Given the description of an element on the screen output the (x, y) to click on. 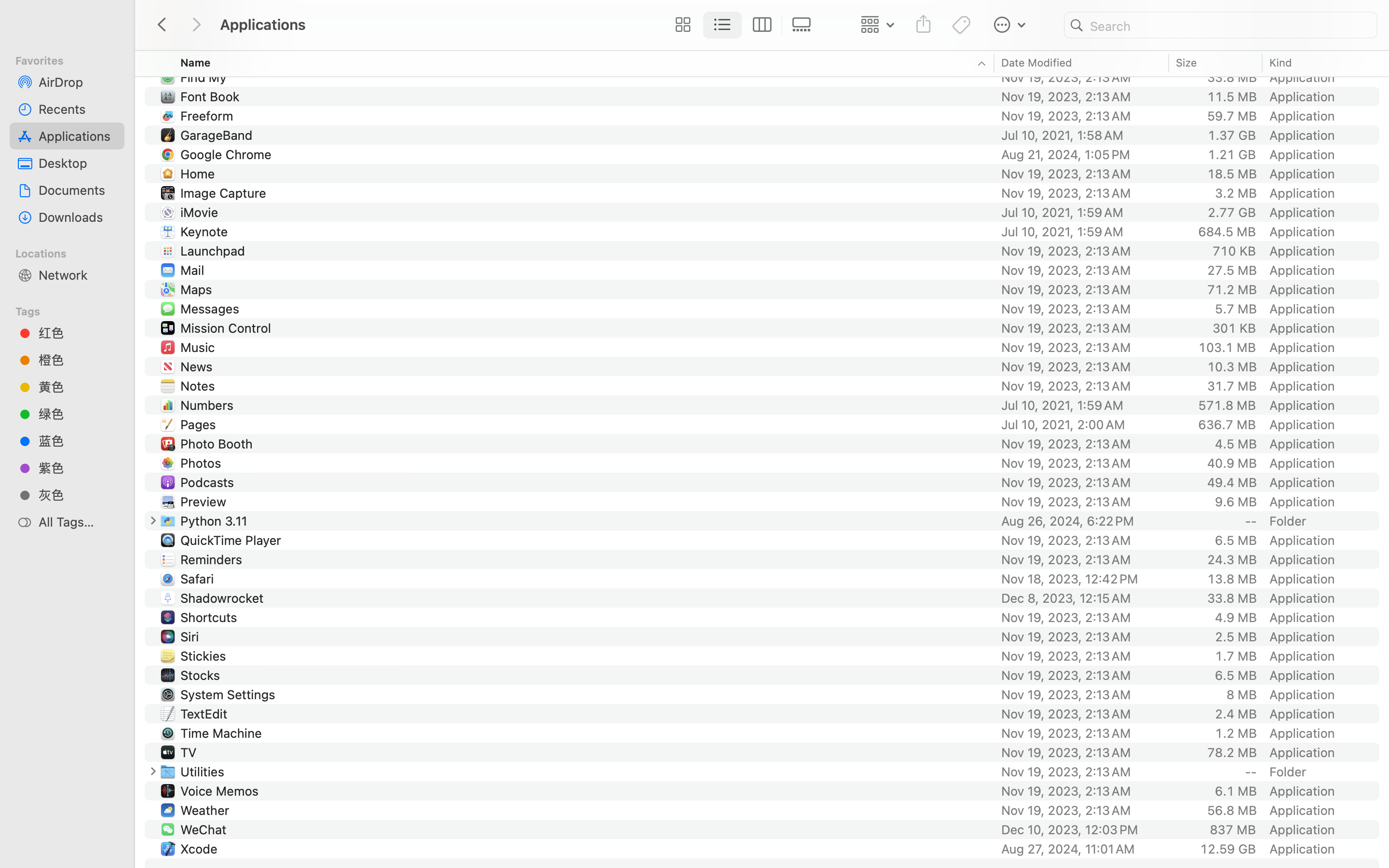
Aug 26, 2024, 6:22 PM Element type: AXStaticText (1081, 520)
6.5 MB Element type: AXStaticText (1235, 674)
Jul 10, 2021, 2:00 AM Element type: AXStaticText (1081, 424)
Safari Element type: AXTextField (198, 578)
18.5 MB Element type: AXStaticText (1231, 173)
